Given the description of an element on the screen output the (x, y) to click on. 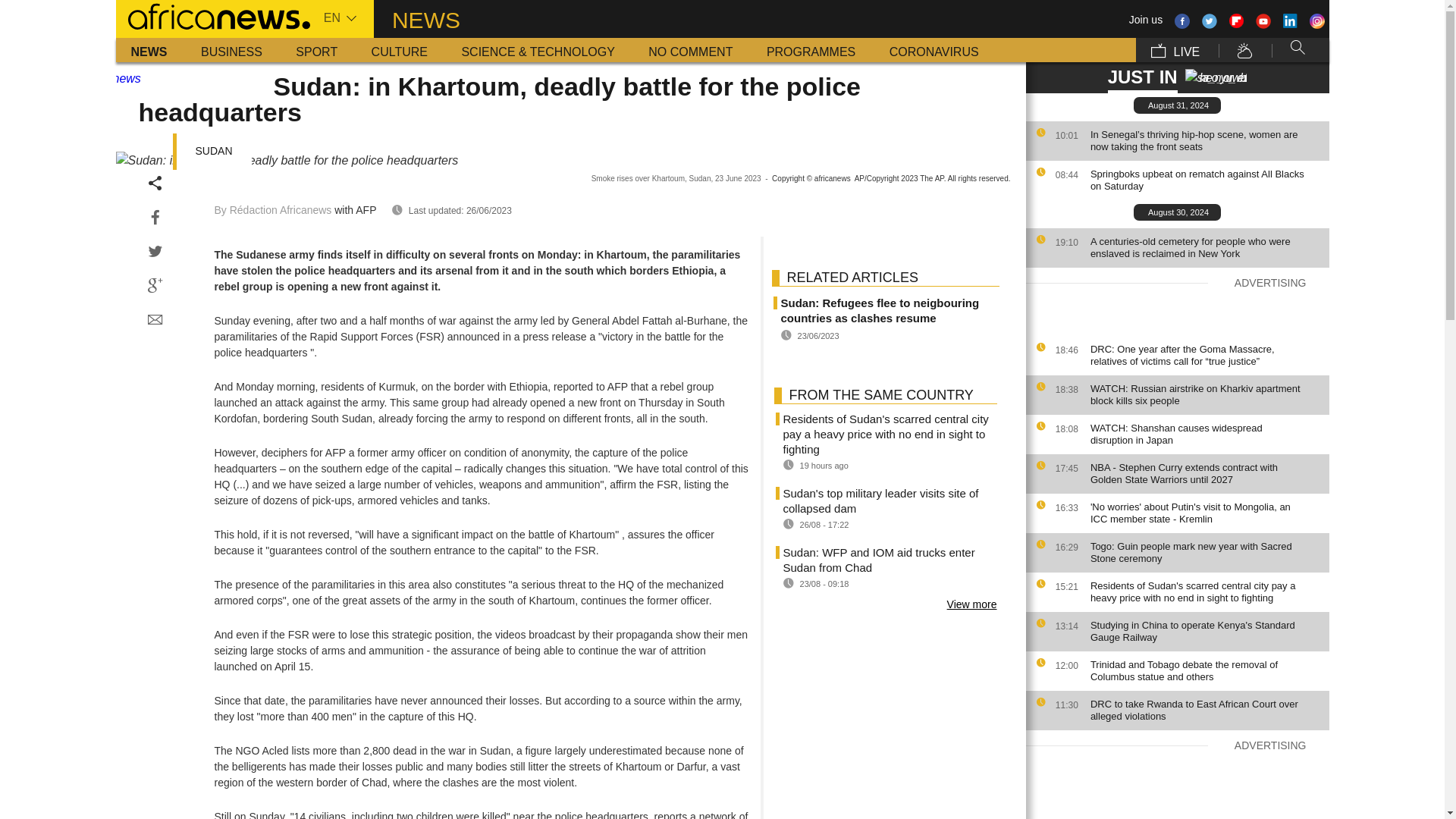
CORONAVIRUS (934, 49)
LIVE (1174, 49)
Programmes (810, 49)
Africanews (211, 15)
CULTURE (399, 49)
Business (232, 49)
News (148, 49)
BUSINESS (232, 49)
